Given the description of an element on the screen output the (x, y) to click on. 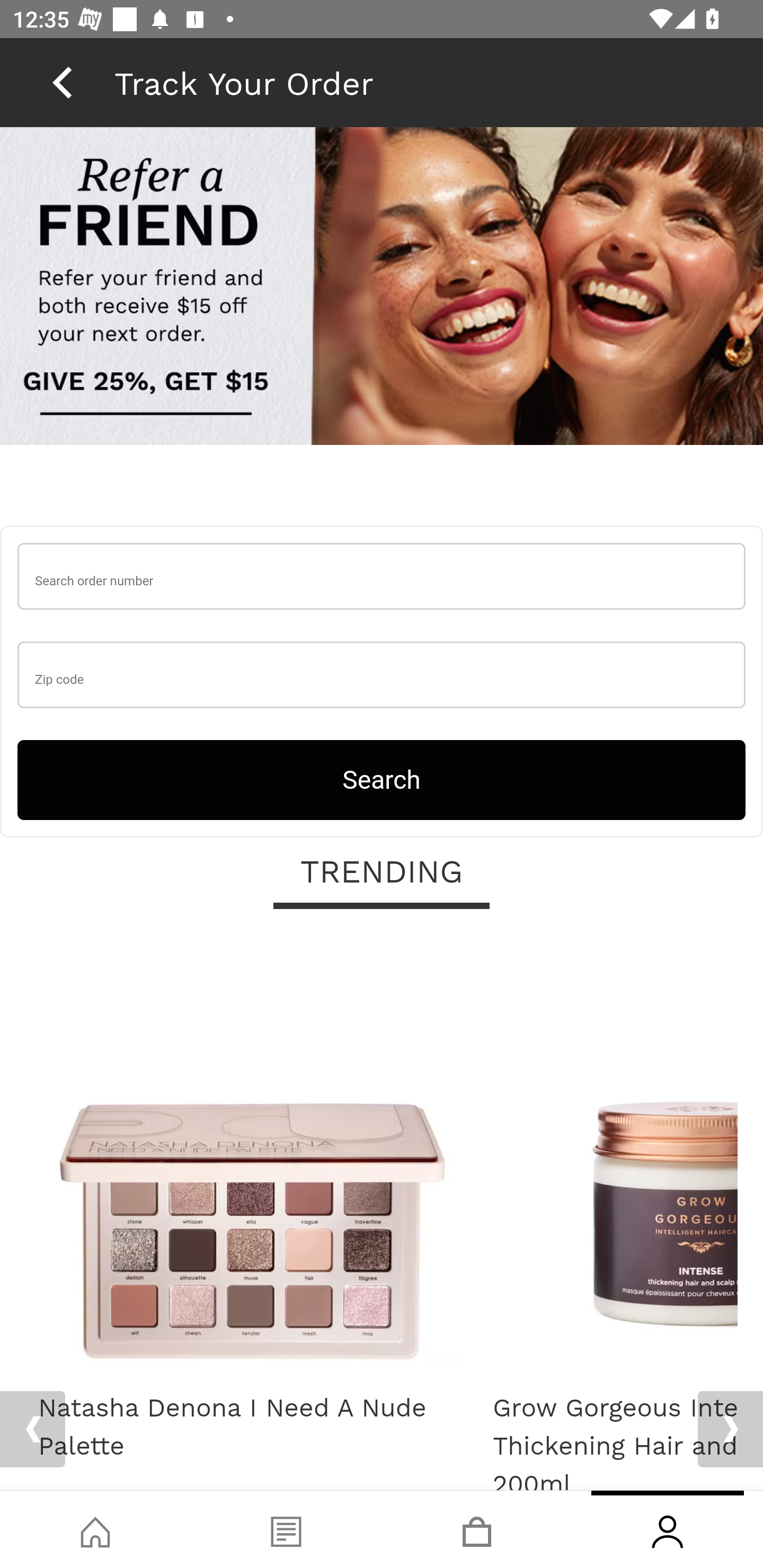
back (61, 82)
raf (381, 288)
Search (381, 779)
TRENDING (381, 874)
Natasha Denona I Need A Nude Palette (252, 1156)
Natasha Denona I Need A Nude Palette (252, 1428)
Previous (32, 1428)
Next (730, 1428)
Shop, tab, 1 of 4 (95, 1529)
Blog, tab, 2 of 4 (285, 1529)
Basket, tab, 3 of 4 (476, 1529)
Account, tab, 4 of 4 (667, 1529)
